Given the description of an element on the screen output the (x, y) to click on. 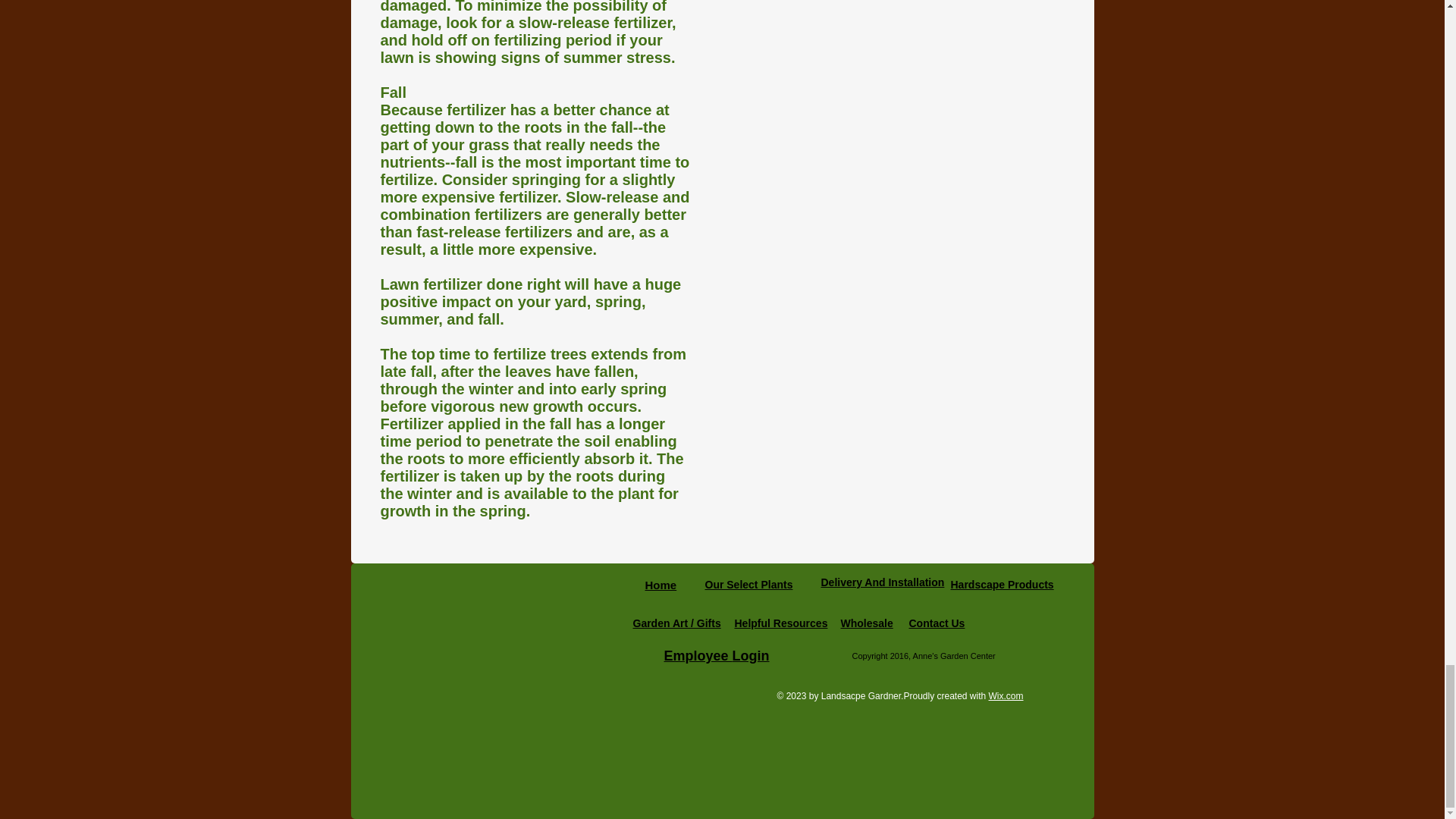
Hardscape Products (1002, 584)
Delivery And Installation (882, 582)
Helpful Resources (780, 623)
Wholesale (866, 623)
Employee (697, 655)
Our Select Plants (748, 584)
Wix.com (1005, 696)
Contact Us (935, 623)
Login (751, 655)
Home (661, 584)
